Given the description of an element on the screen output the (x, y) to click on. 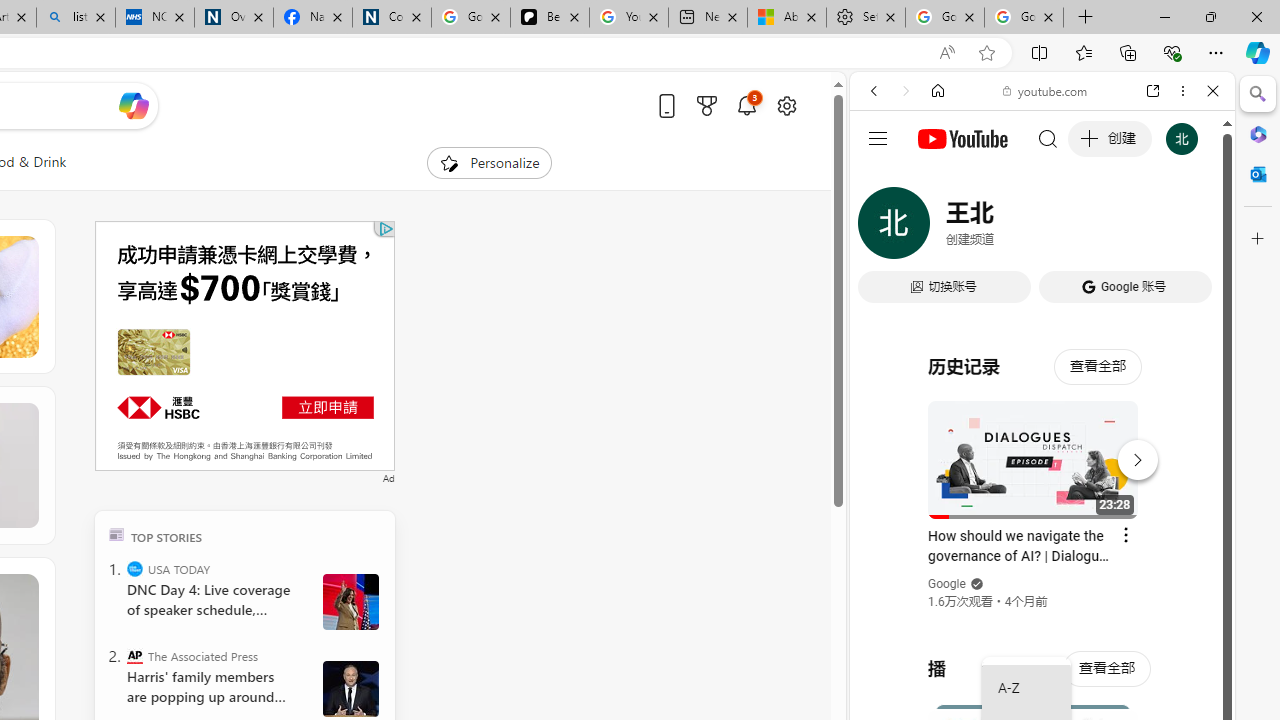
WEB   (882, 228)
AutomationID: canvas (244, 345)
YouTube (1034, 296)
Music (1042, 543)
Search videos from youtube.com (1005, 657)
Microsoft rewards (707, 105)
#you (1042, 445)
Show More Music (1164, 546)
This site scope (936, 180)
